Given the description of an element on the screen output the (x, y) to click on. 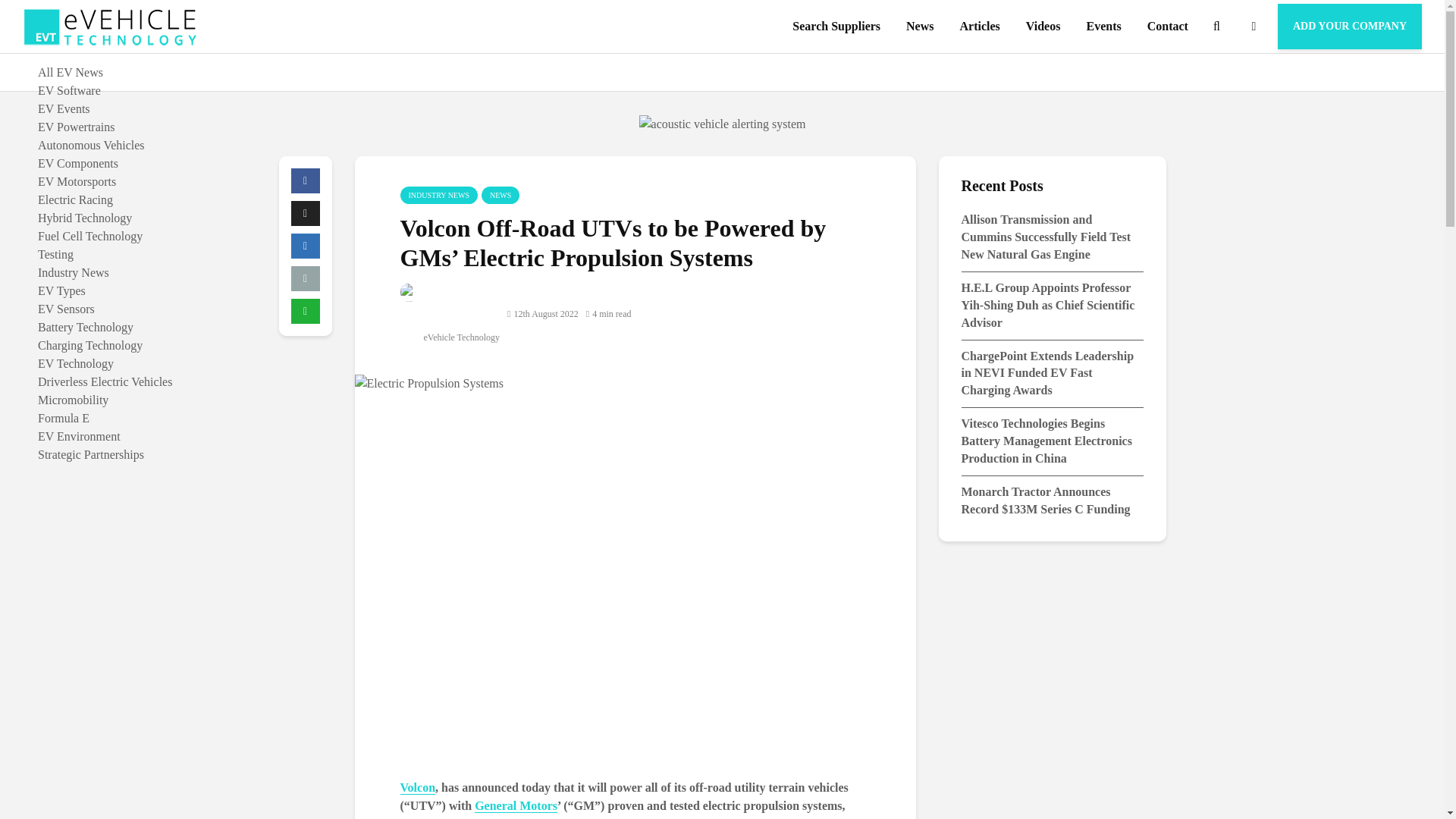
EV Technology (75, 363)
Industry News (73, 272)
acoustic vehicle alerting system (722, 124)
Videos (1042, 26)
Battery Technology (85, 327)
All EV News (70, 72)
EV Sensors (65, 308)
Electric Racing (75, 199)
Events (1103, 26)
EV Components (77, 163)
Formula E (62, 418)
EV Software (68, 90)
Articles (978, 26)
ADD YOUR COMPANY (1350, 26)
Driverless Electric Vehicles (104, 381)
